Given the description of an element on the screen output the (x, y) to click on. 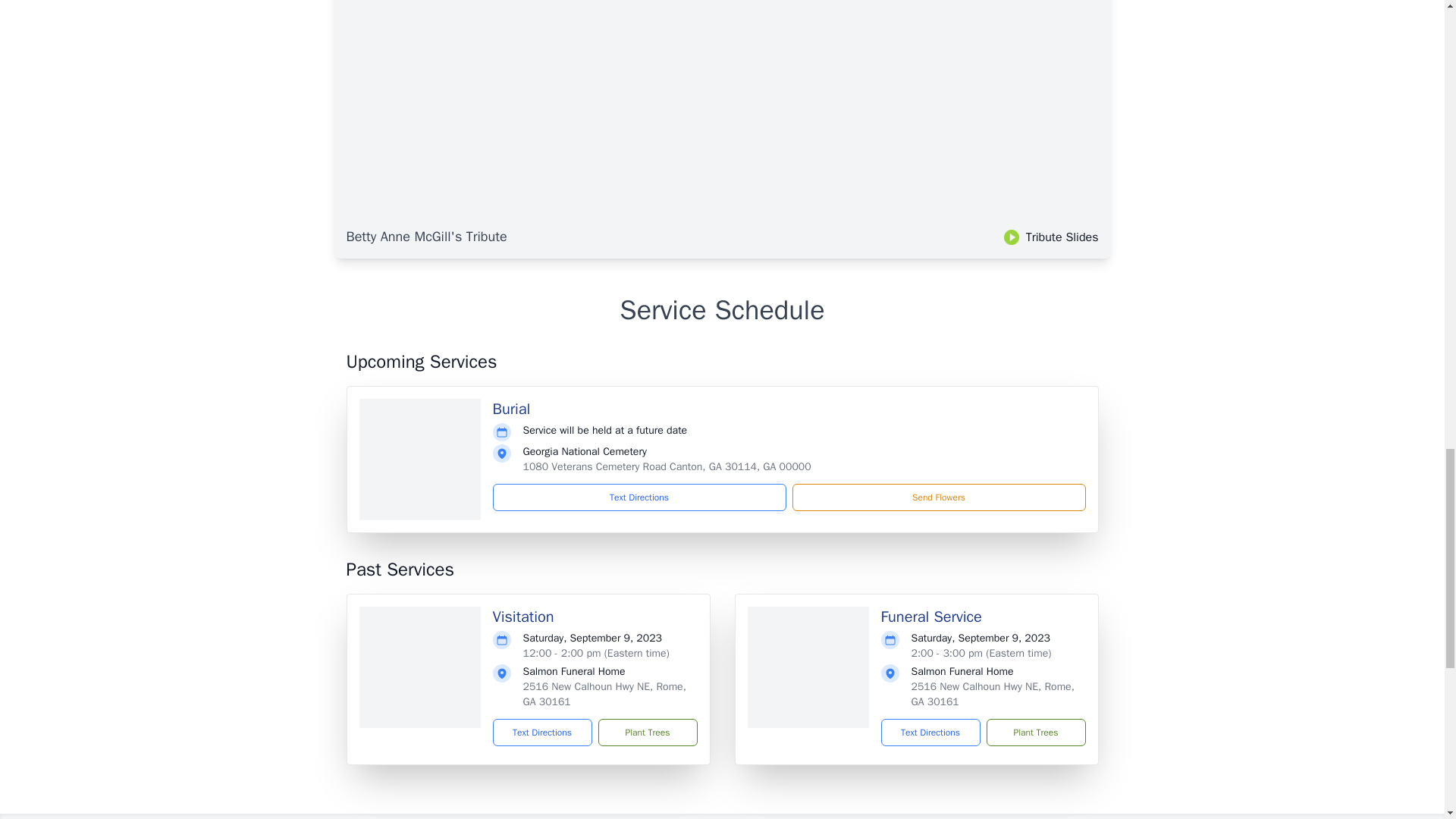
2516 New Calhoun Hwy NE, Rome, GA 30161 (603, 694)
Plant Trees (646, 732)
Text Directions (542, 732)
1080 Veterans Cemetery Road Canton, GA 30114, GA 00000 (666, 466)
2516 New Calhoun Hwy NE, Rome, GA 30161 (992, 694)
Plant Trees (1034, 732)
Text Directions (929, 732)
Send Flowers (938, 497)
Text Directions (639, 497)
